Given the description of an element on the screen output the (x, y) to click on. 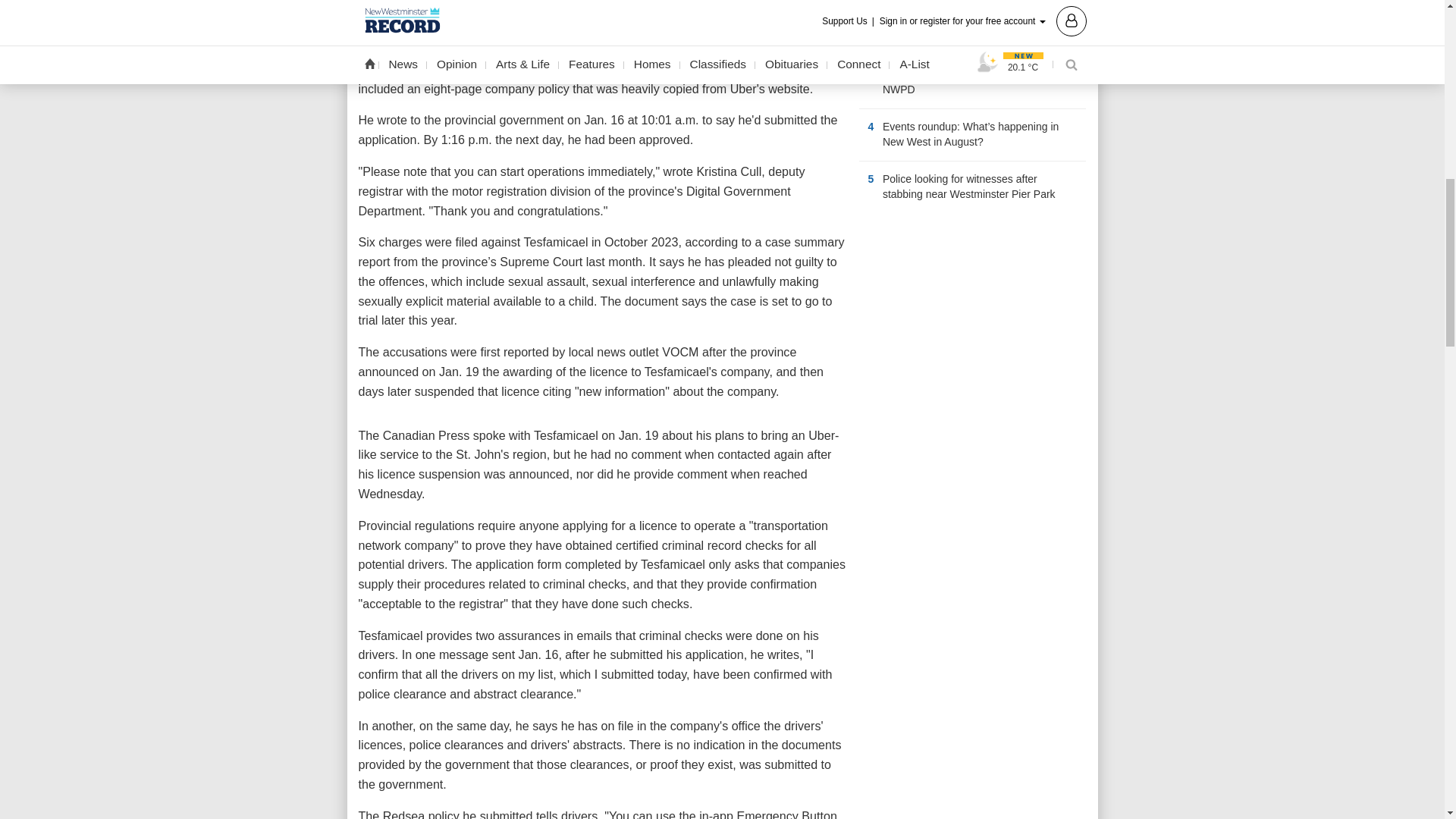
Has a gallery (1064, 194)
